Given the description of an element on the screen output the (x, y) to click on. 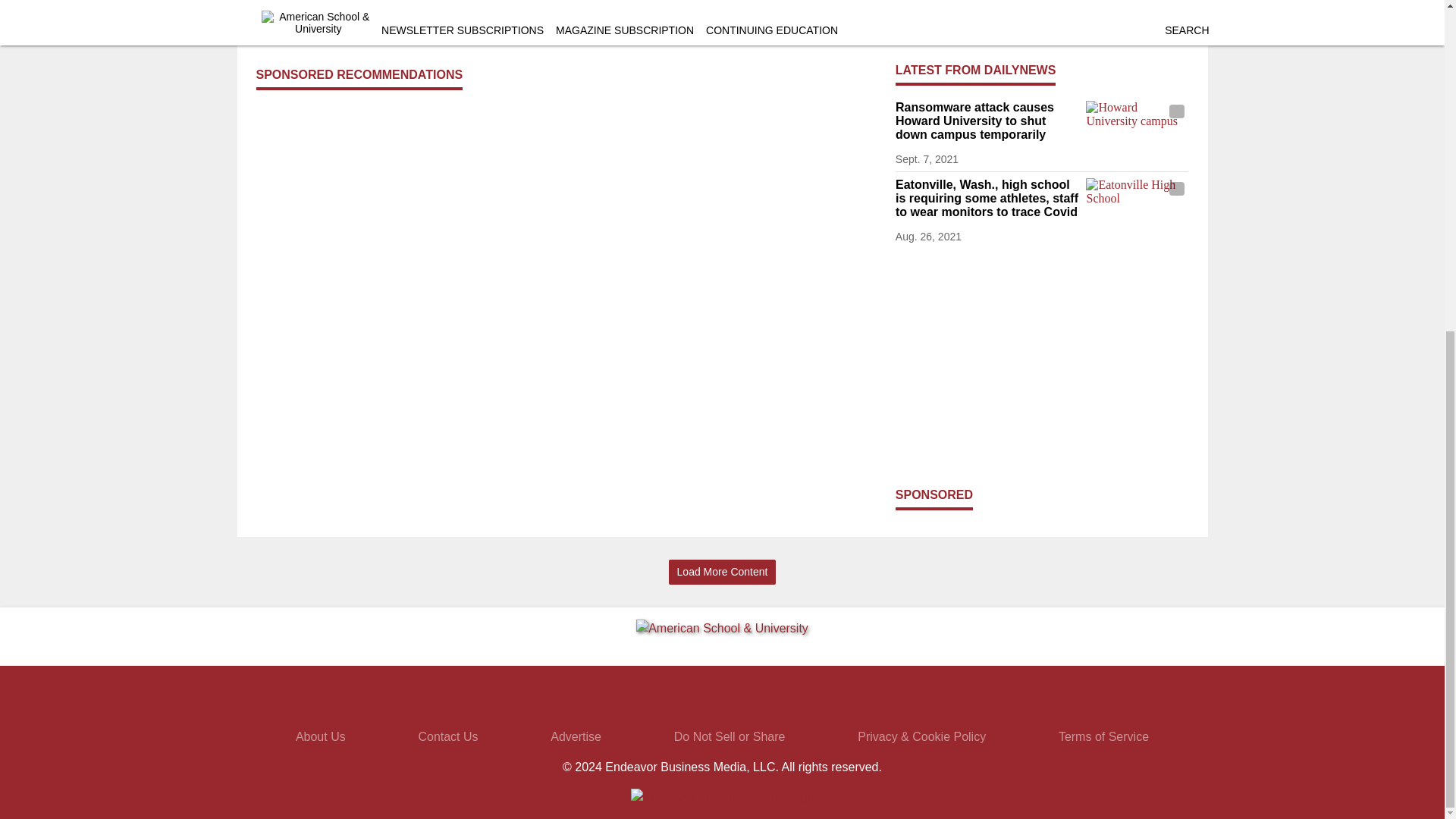
Terms of Service (1103, 736)
Click here to read The Las Vegas Sun article (366, 11)
Howard University campus (1137, 129)
Contact Us (447, 736)
Do Not Sell or Share (730, 736)
Eatonville High School (1137, 206)
About Us (320, 736)
Advertise (575, 736)
Load More Content (722, 571)
